Given the description of an element on the screen output the (x, y) to click on. 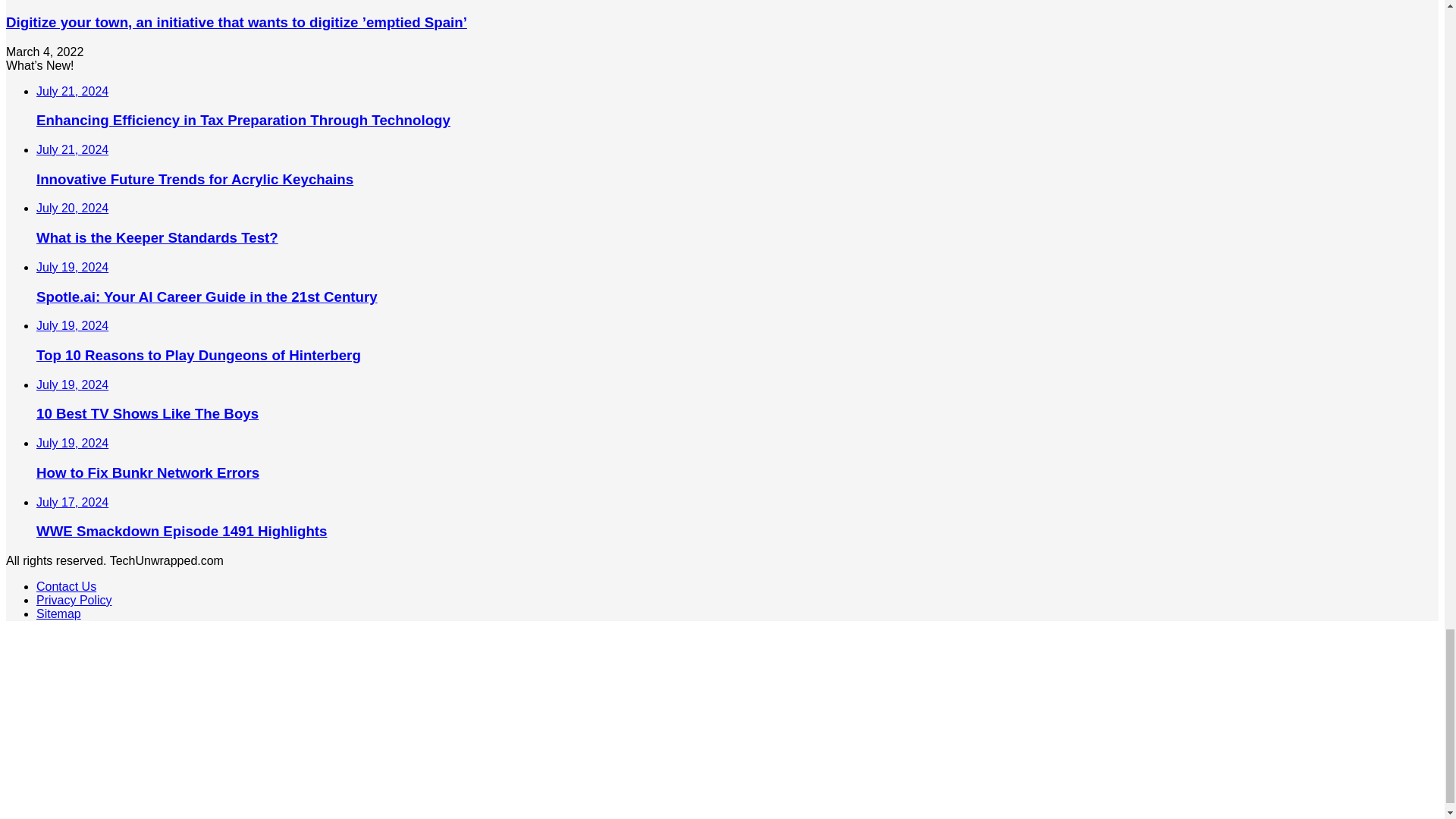
Contact Us (66, 585)
Sitemap (58, 613)
Privacy Policy (74, 599)
